Given the description of an element on the screen output the (x, y) to click on. 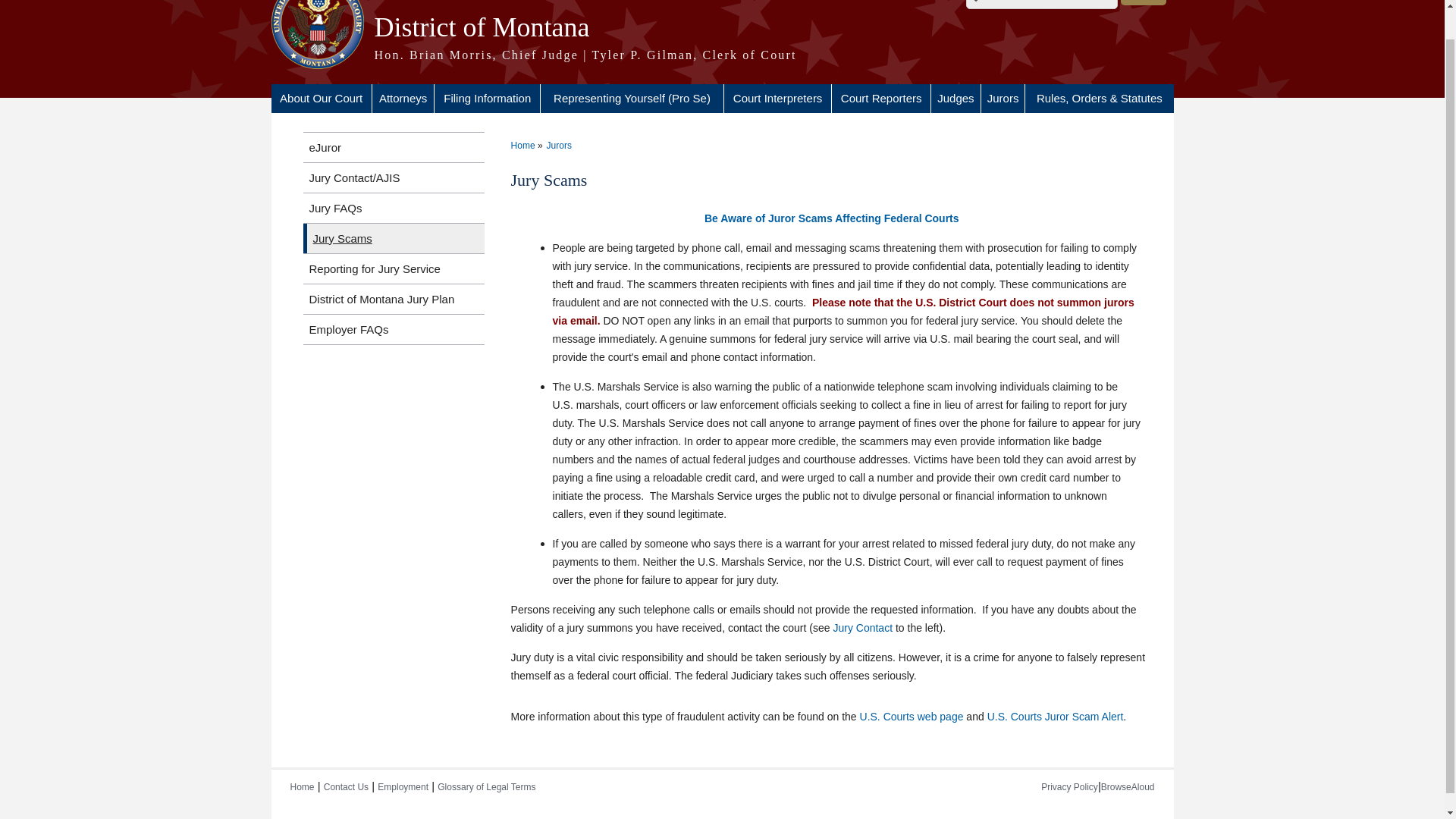
Enter the terms you wish to search for. (1042, 4)
Attorneys (402, 98)
Search (1143, 2)
District of Montana (721, 26)
Search (1143, 2)
Home (721, 26)
About Our Court (320, 98)
Home (721, 54)
